Given the description of an element on the screen output the (x, y) to click on. 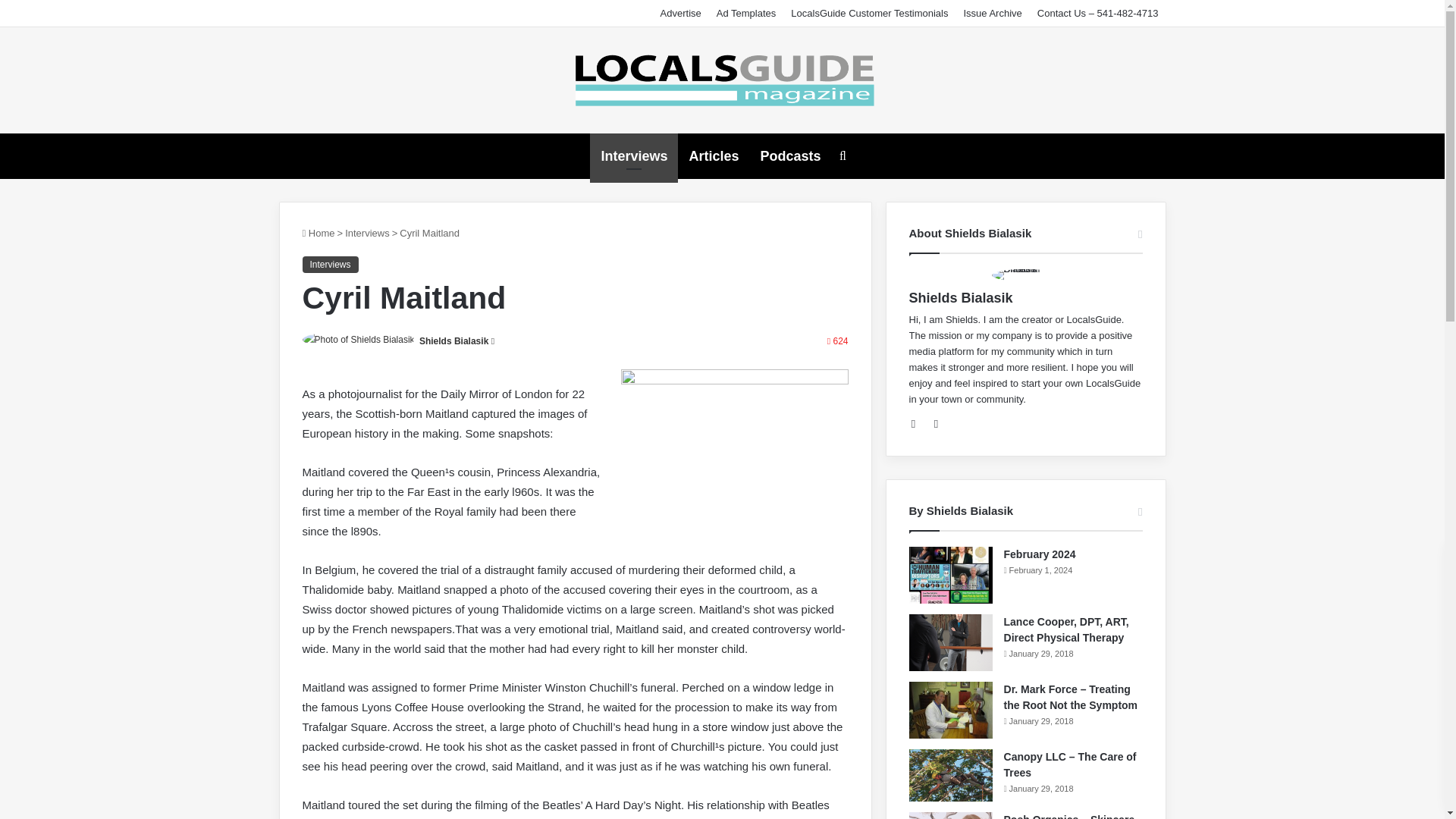
Shields Bialasik (453, 340)
LocalsGuide Customer Testimonials (869, 13)
Ad Templates (746, 13)
Home (317, 233)
photojournalism (733, 454)
Advertise (680, 13)
Interviews (633, 156)
Interviews (329, 264)
Articles (713, 156)
Podcasts (790, 156)
Shields Bialasik (453, 340)
Issue Archive (992, 13)
Interviews (367, 233)
Ashland, Oregon - LocalsGuide (721, 79)
